Given the description of an element on the screen output the (x, y) to click on. 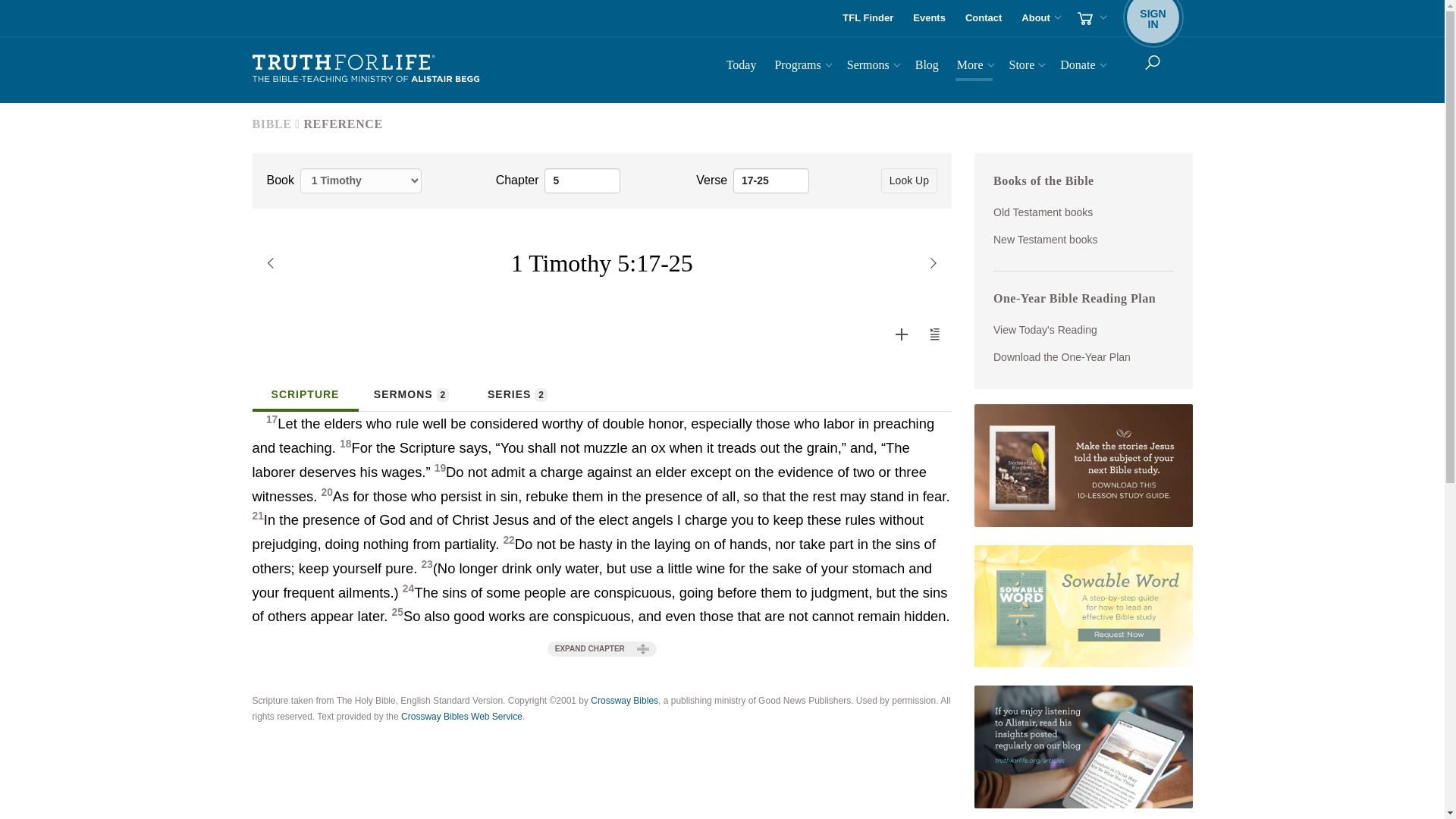
Contact (983, 18)
5 (582, 180)
cart (1090, 18)
Listen Queue (935, 334)
Add to Listen Queue (934, 334)
TFL Finder (867, 18)
About (1039, 18)
17-25 (771, 180)
Programs (801, 66)
Truth For Life (365, 68)
Add to My Library (901, 334)
Add to My Library (1152, 18)
Events (901, 334)
Today (929, 18)
